Given the description of an element on the screen output the (x, y) to click on. 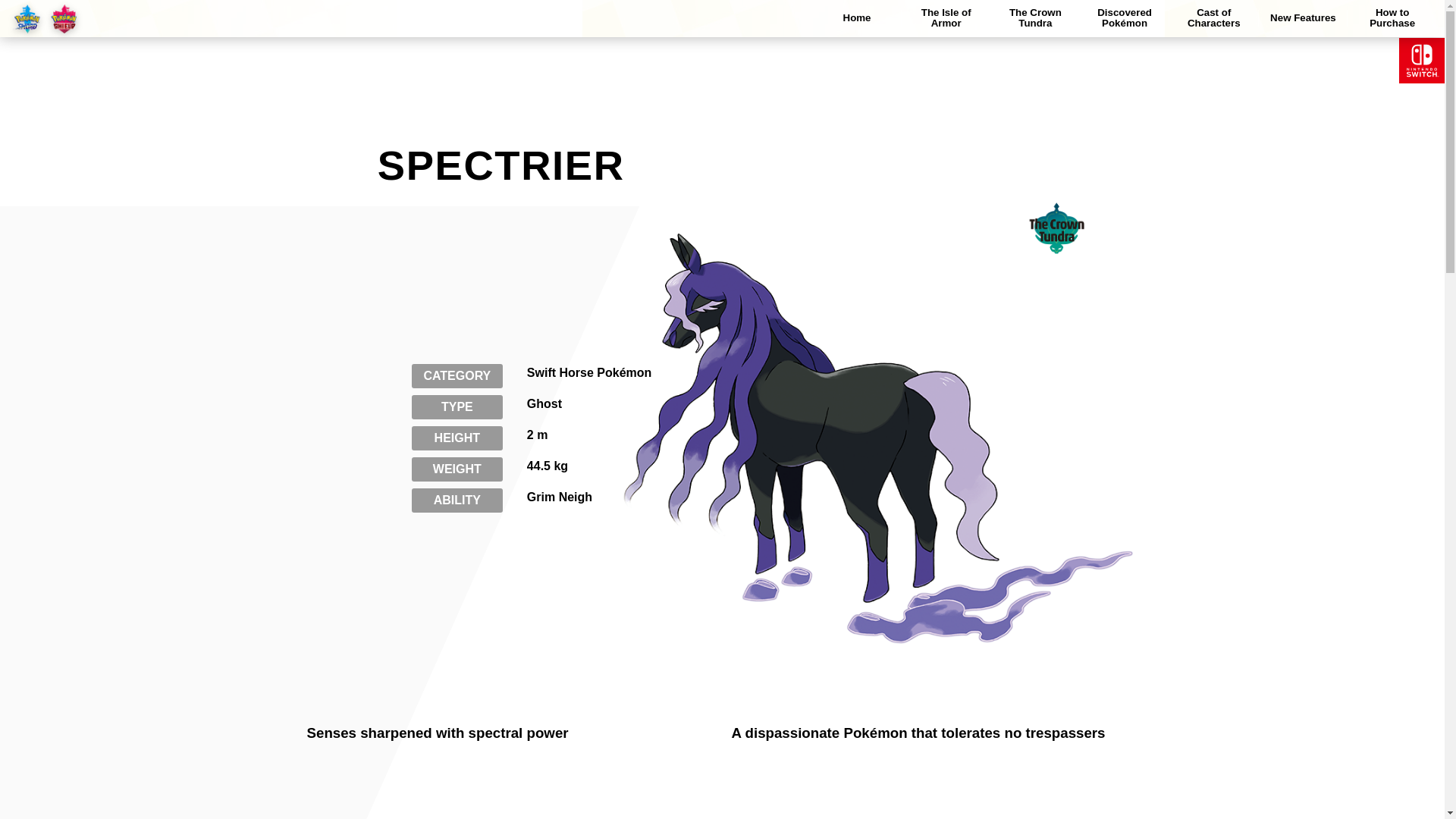
The Crown Tundra (1035, 17)
Cast of Characters (1214, 17)
New Features (1303, 17)
The Isle of Armor (946, 17)
How to Purchase (1392, 17)
Home (856, 17)
